Given the description of an element on the screen output the (x, y) to click on. 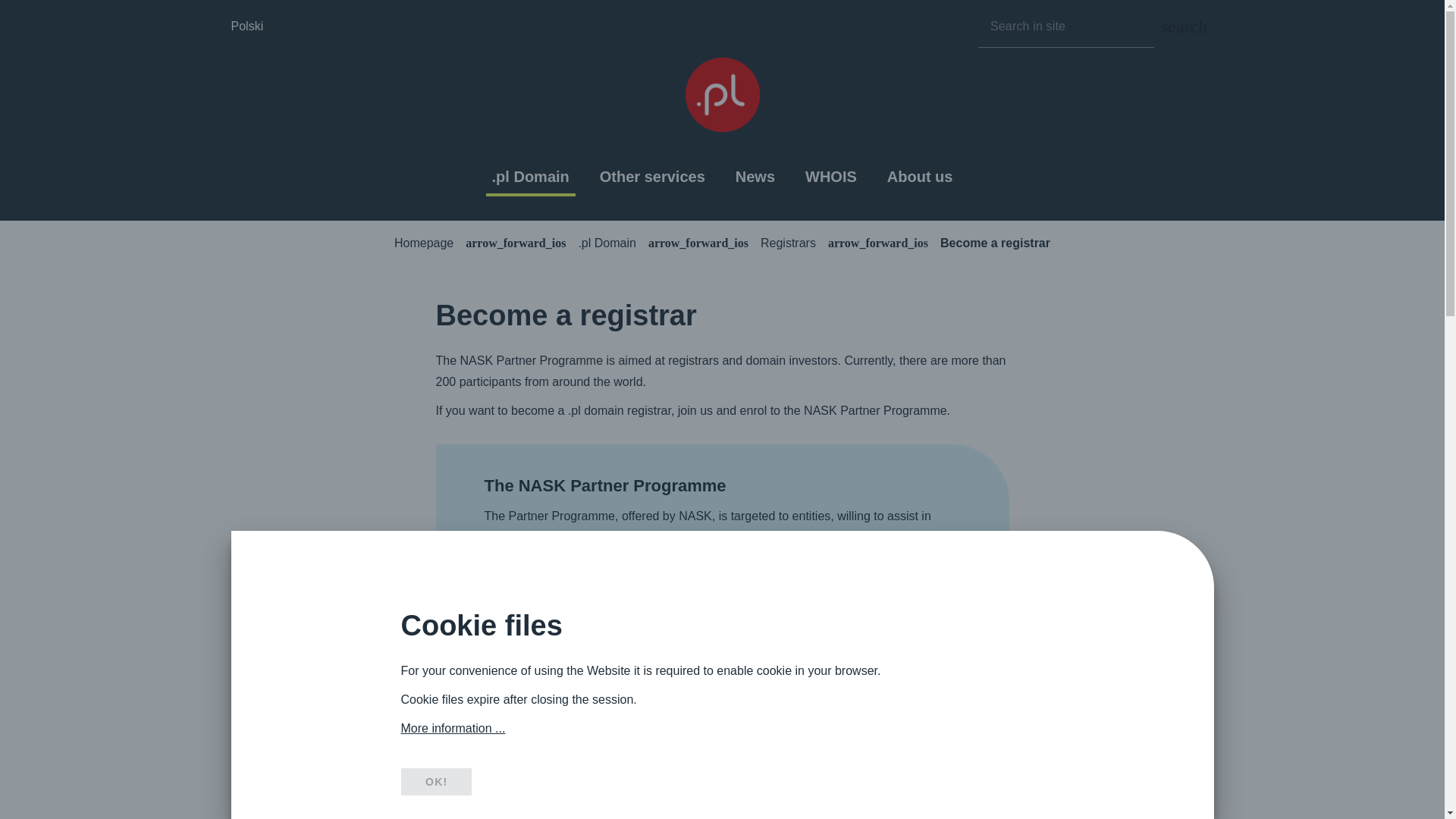
More information ... (452, 727)
Polski (246, 25)
.pl Domain Name Registry (722, 94)
.pl Domain (530, 176)
link, a website will open in a new tab (857, 643)
search (1183, 25)
OK! (435, 781)
